Given the description of an element on the screen output the (x, y) to click on. 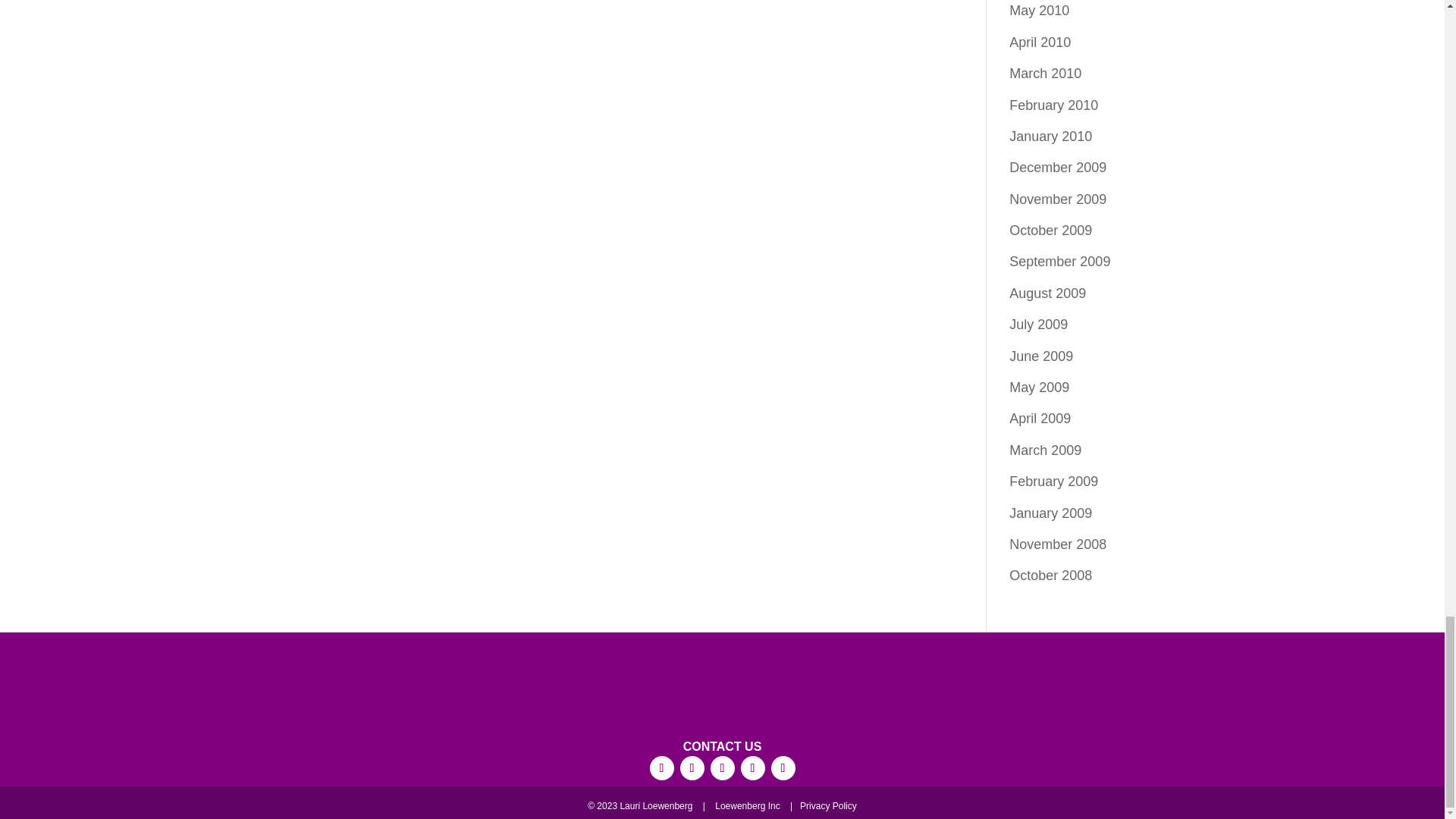
cropped-Dream-Site-Logo.png (721, 688)
Follow on TikTok (721, 767)
Follow on Facebook (660, 767)
Follow on X (751, 767)
Follow on Instagram (691, 767)
Follow on Youtube (782, 767)
